Given the description of an element on the screen output the (x, y) to click on. 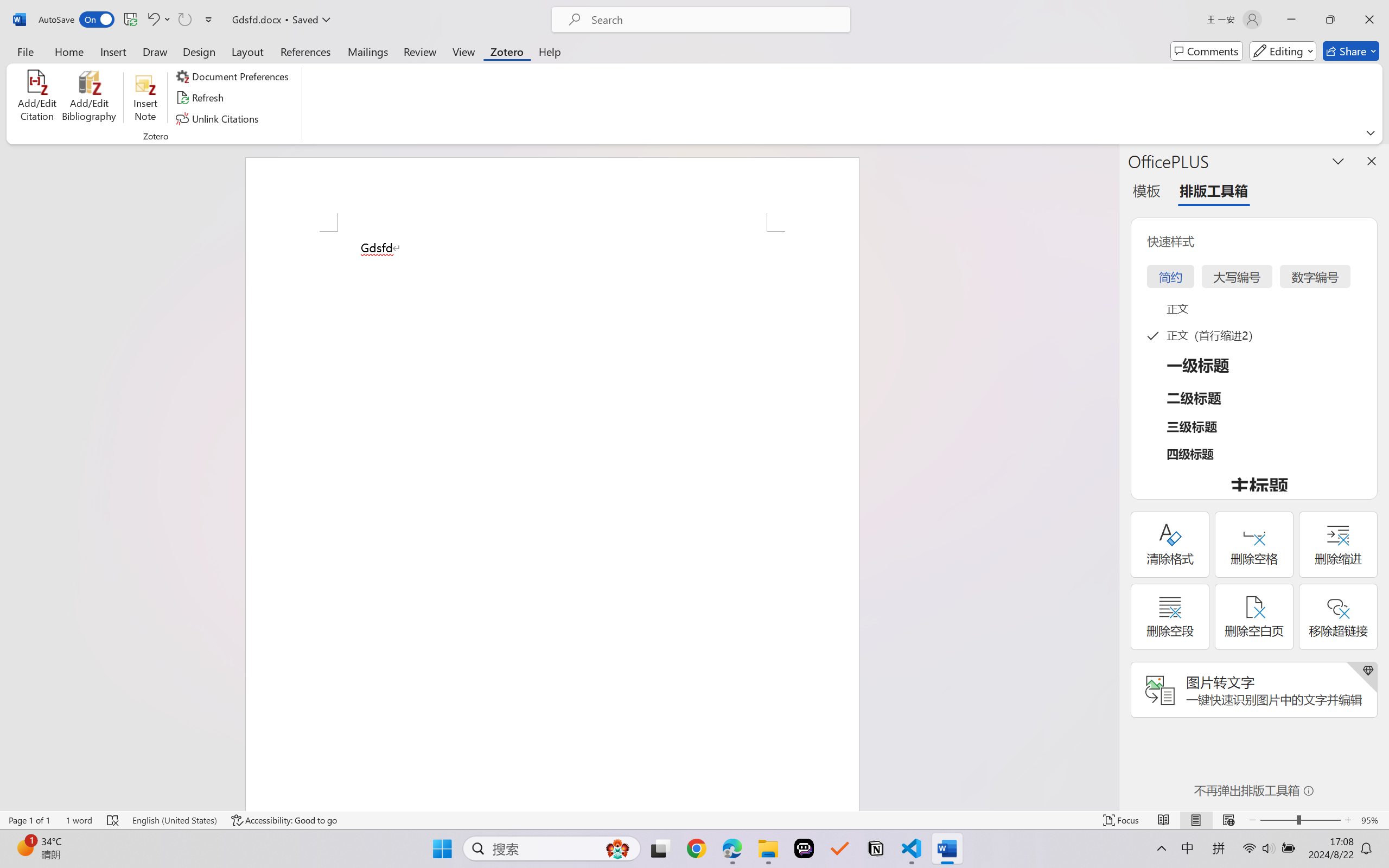
Page 1 content (552, 520)
Undo <ApplyStyleToDoc>b__0 (152, 19)
Class: NetUIScrollBar (1111, 477)
Microsoft search (715, 19)
